Given the description of an element on the screen output the (x, y) to click on. 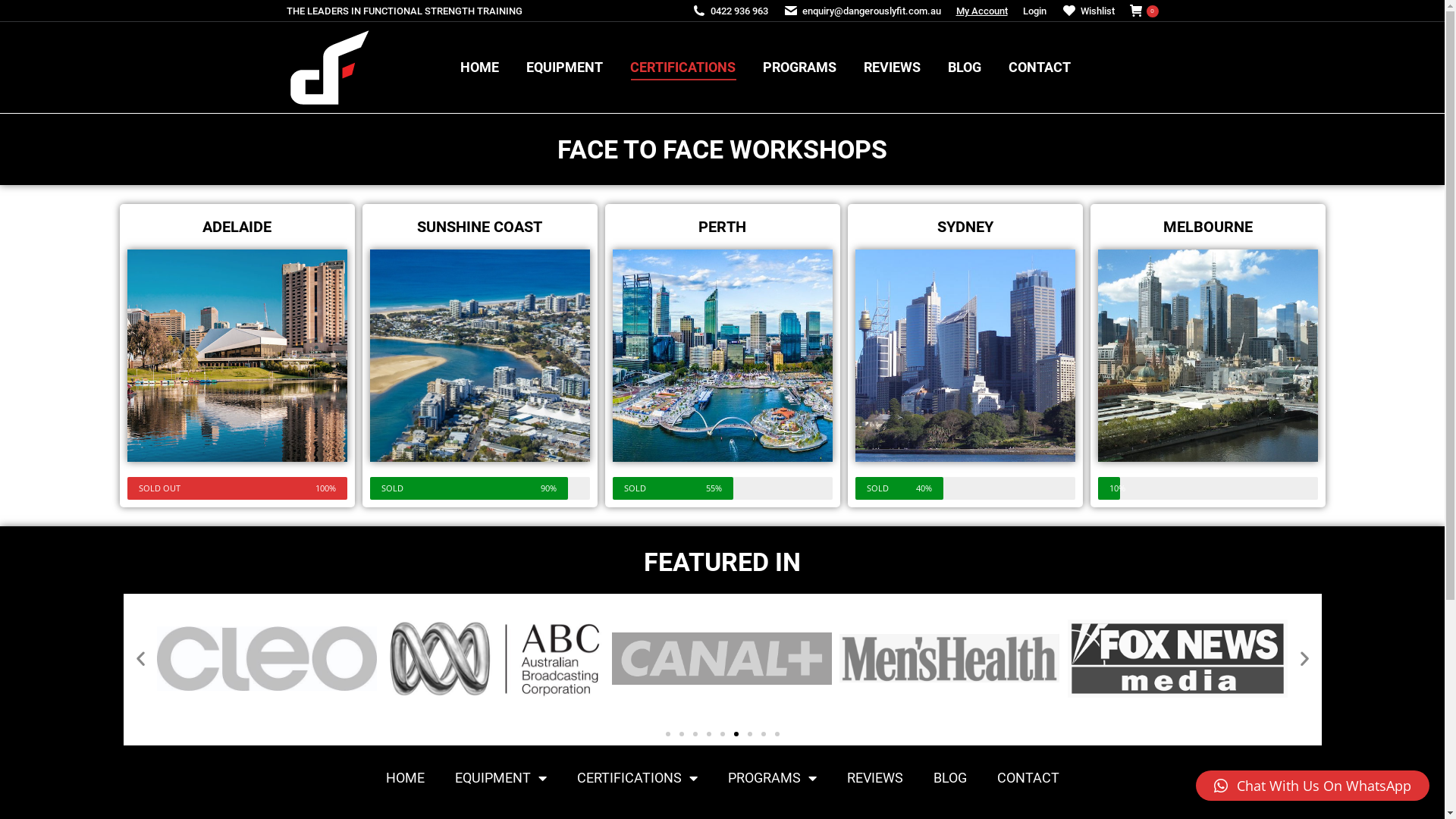
HOME Element type: text (404, 777)
REVIEWS Element type: text (874, 777)
LEARN MORE Element type: text (964, 284)
LEARN MORE Element type: text (722, 284)
Wishlist Element type: text (1087, 10)
 0 Element type: text (1143, 10)
CERTIFICATIONS Element type: text (682, 67)
CONTACT Element type: text (1039, 67)
LEARN MORE Element type: text (479, 284)
REVIEWS Element type: text (891, 67)
HOME Element type: text (479, 67)
BLOG Element type: text (964, 67)
Login Element type: text (1033, 10)
BLOG Element type: text (949, 777)
EQUIPMENT Element type: text (500, 777)
PROGRAMS Element type: text (771, 777)
CONTACT Element type: text (1027, 777)
PROGRAMS Element type: text (799, 67)
Chat With Us On WhatsApp Element type: text (1312, 785)
CERTIFICATIONS Element type: text (636, 777)
LEARN MORE Element type: text (1207, 284)
My Account Element type: text (981, 10)
EQUIPMENT Element type: text (564, 67)
enquiry@dangerouslyfit.com.au Element type: text (861, 10)
LEARN MORE Element type: text (236, 284)
